Given the description of an element on the screen output the (x, y) to click on. 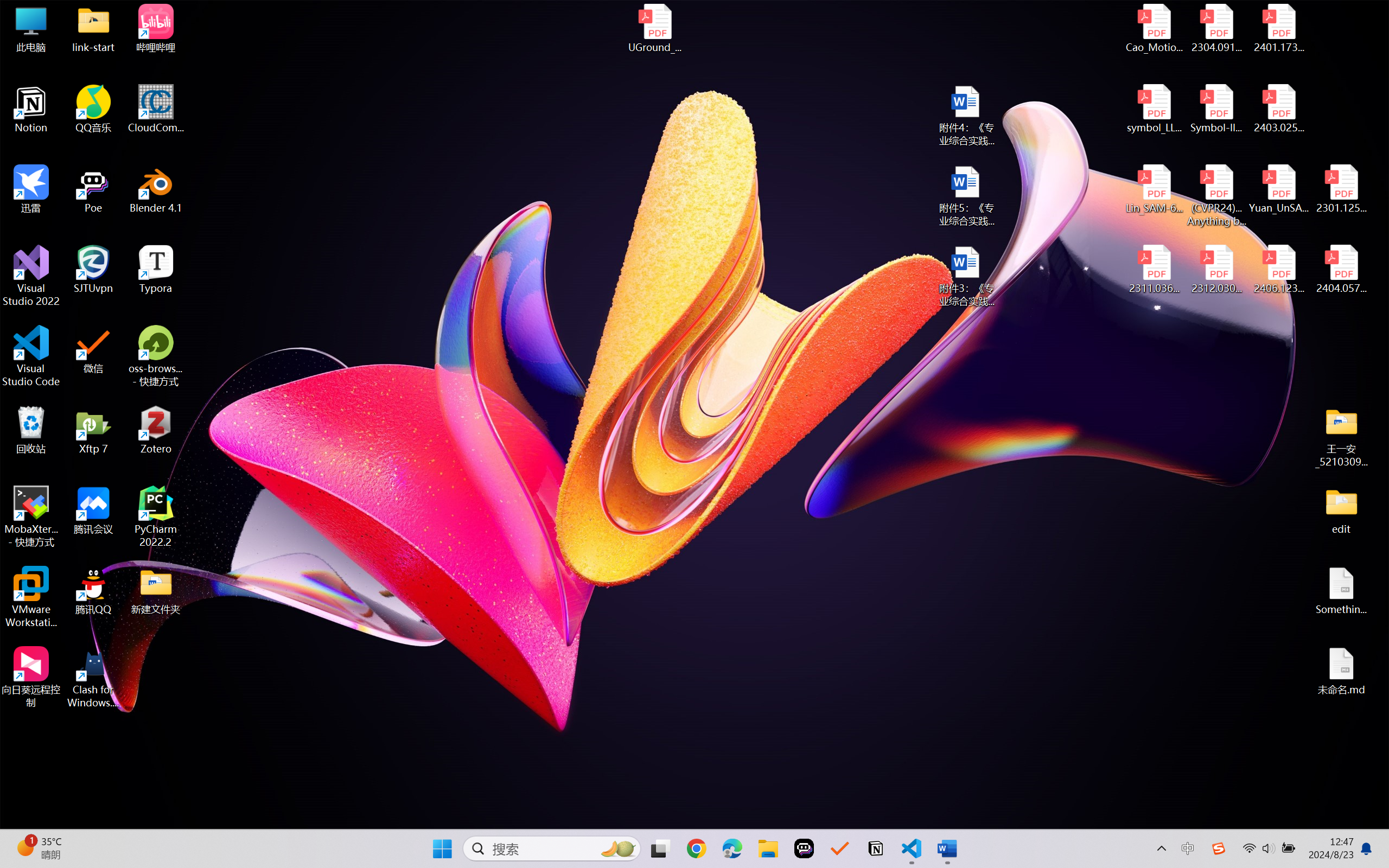
2403.02502v1.pdf (1278, 109)
Visual Studio Code (31, 355)
UGround_paper.pdf (654, 28)
